Given the description of an element on the screen output the (x, y) to click on. 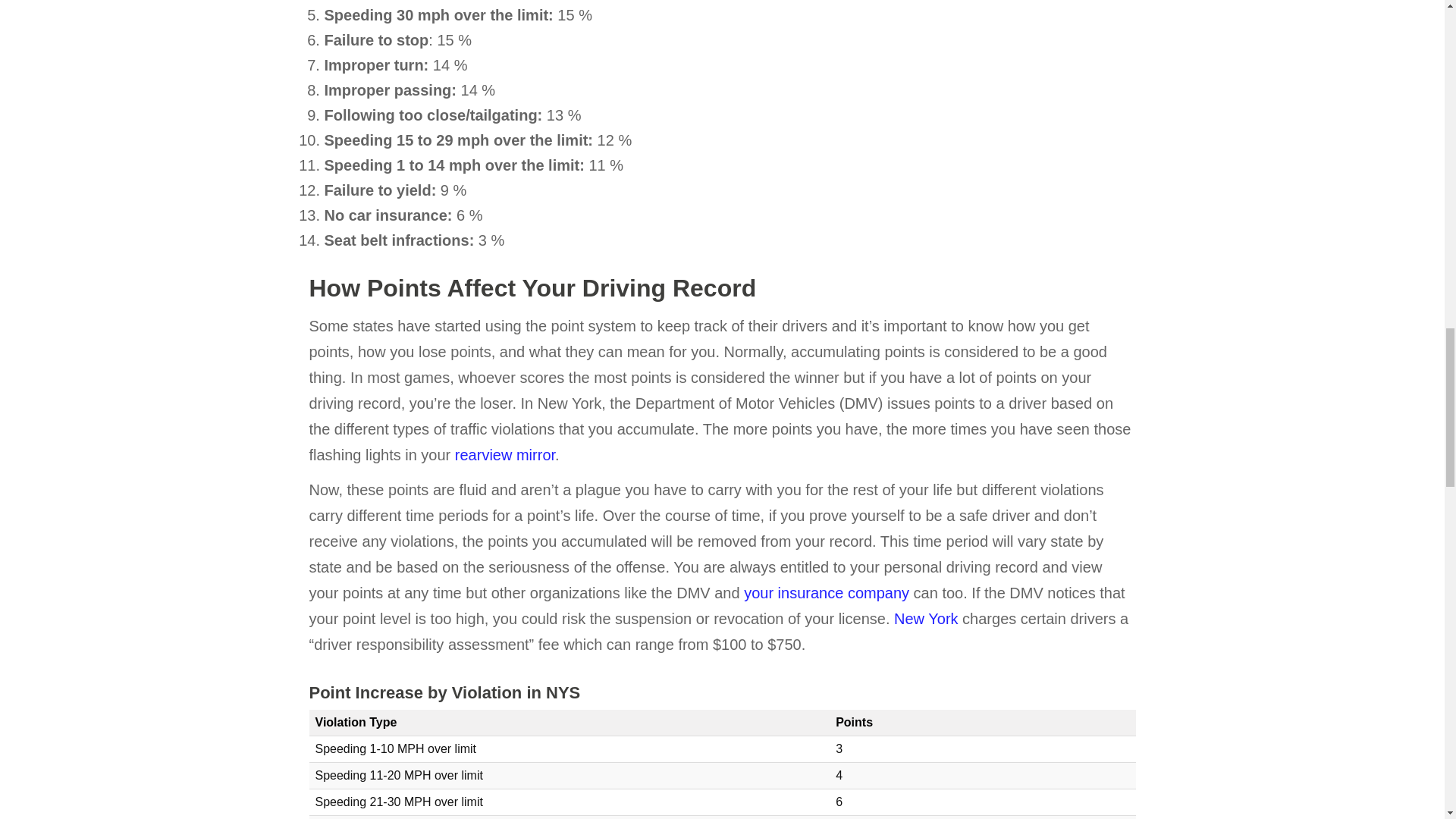
rearview mirror (504, 454)
your insurance company (826, 592)
New York (925, 618)
